Given the description of an element on the screen output the (x, y) to click on. 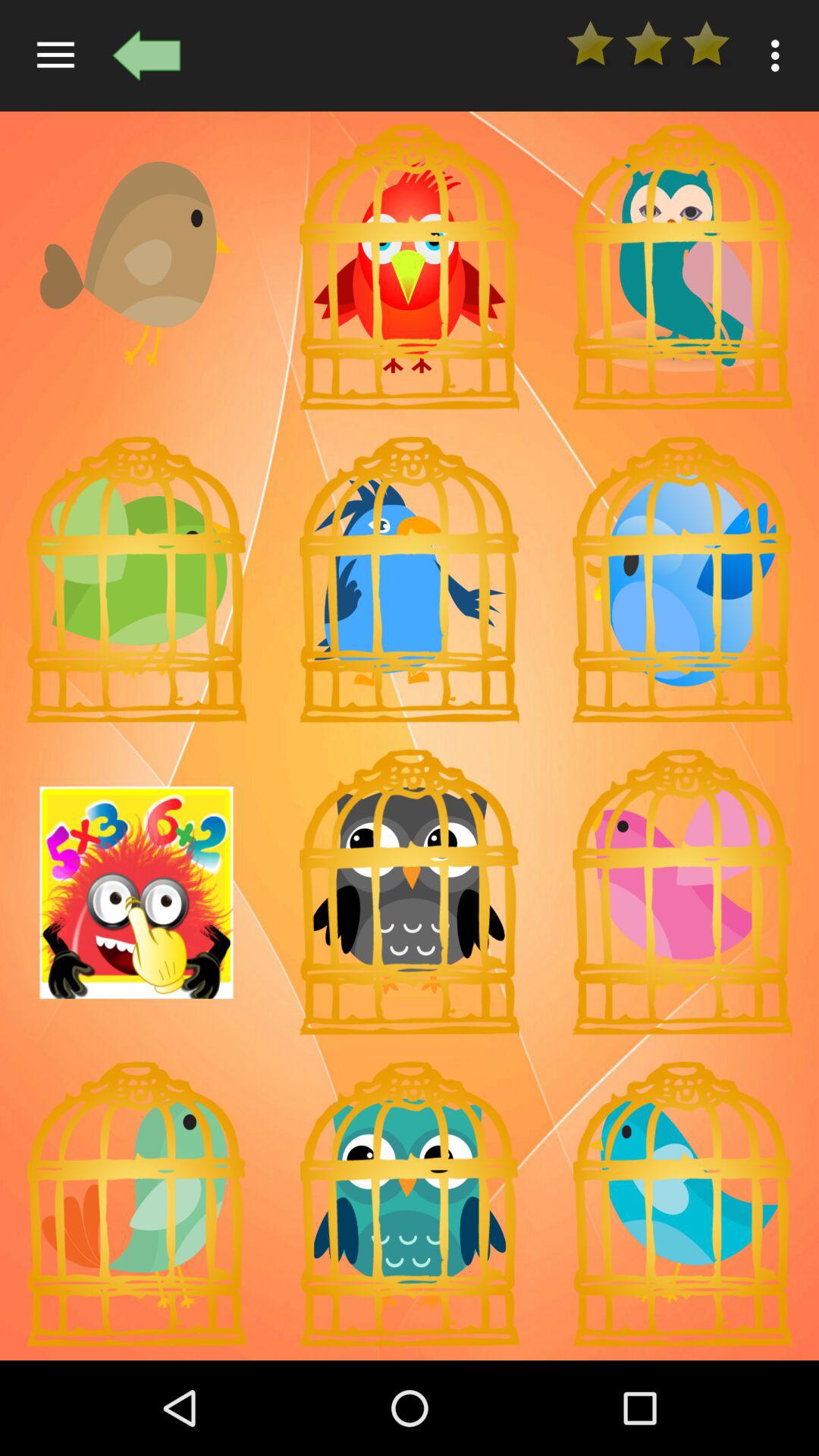
it indicates the sun to make a smile (136, 892)
